Given the description of an element on the screen output the (x, y) to click on. 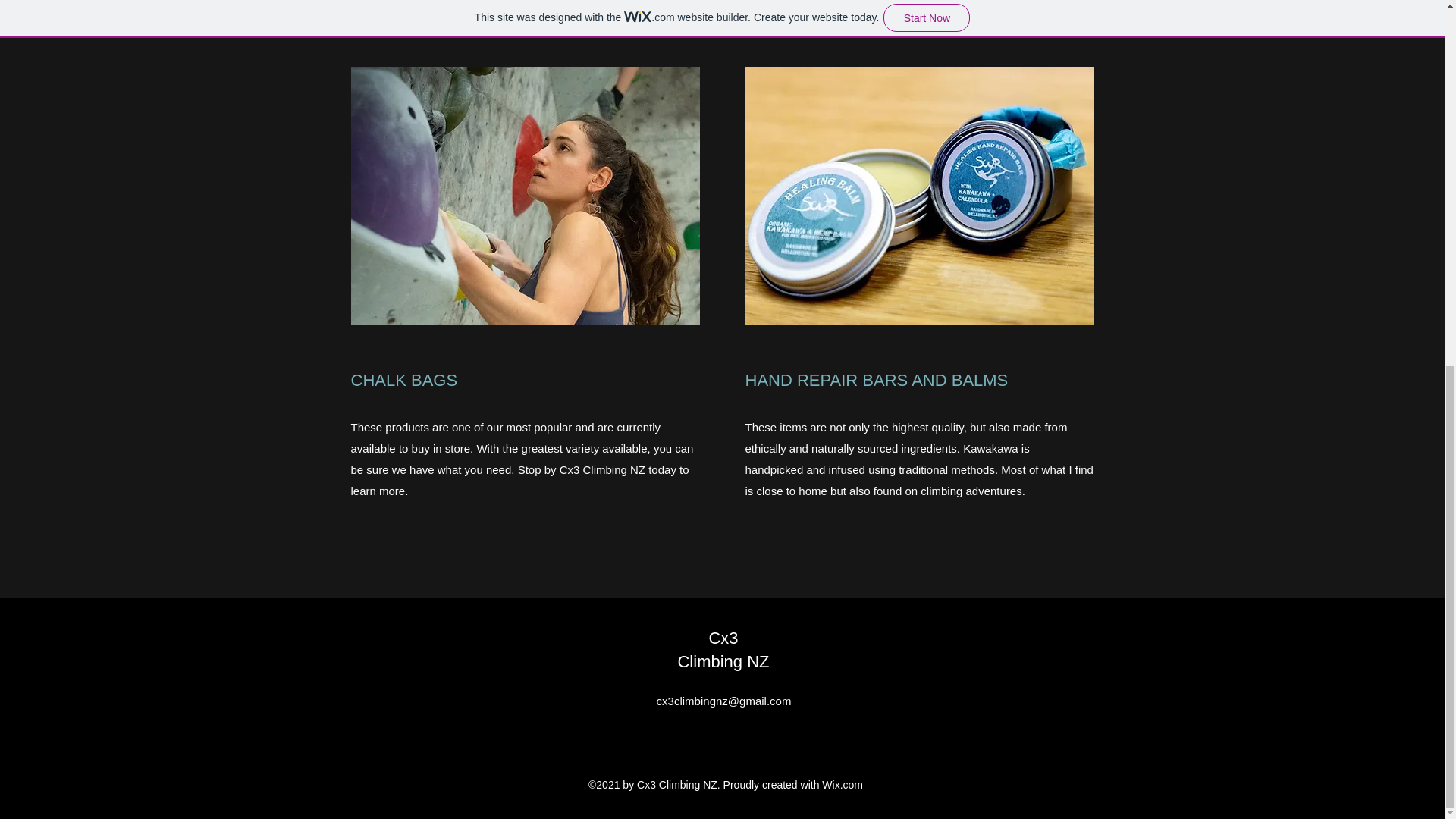
Cx3 Climbing NZ (722, 649)
